Given the description of an element on the screen output the (x, y) to click on. 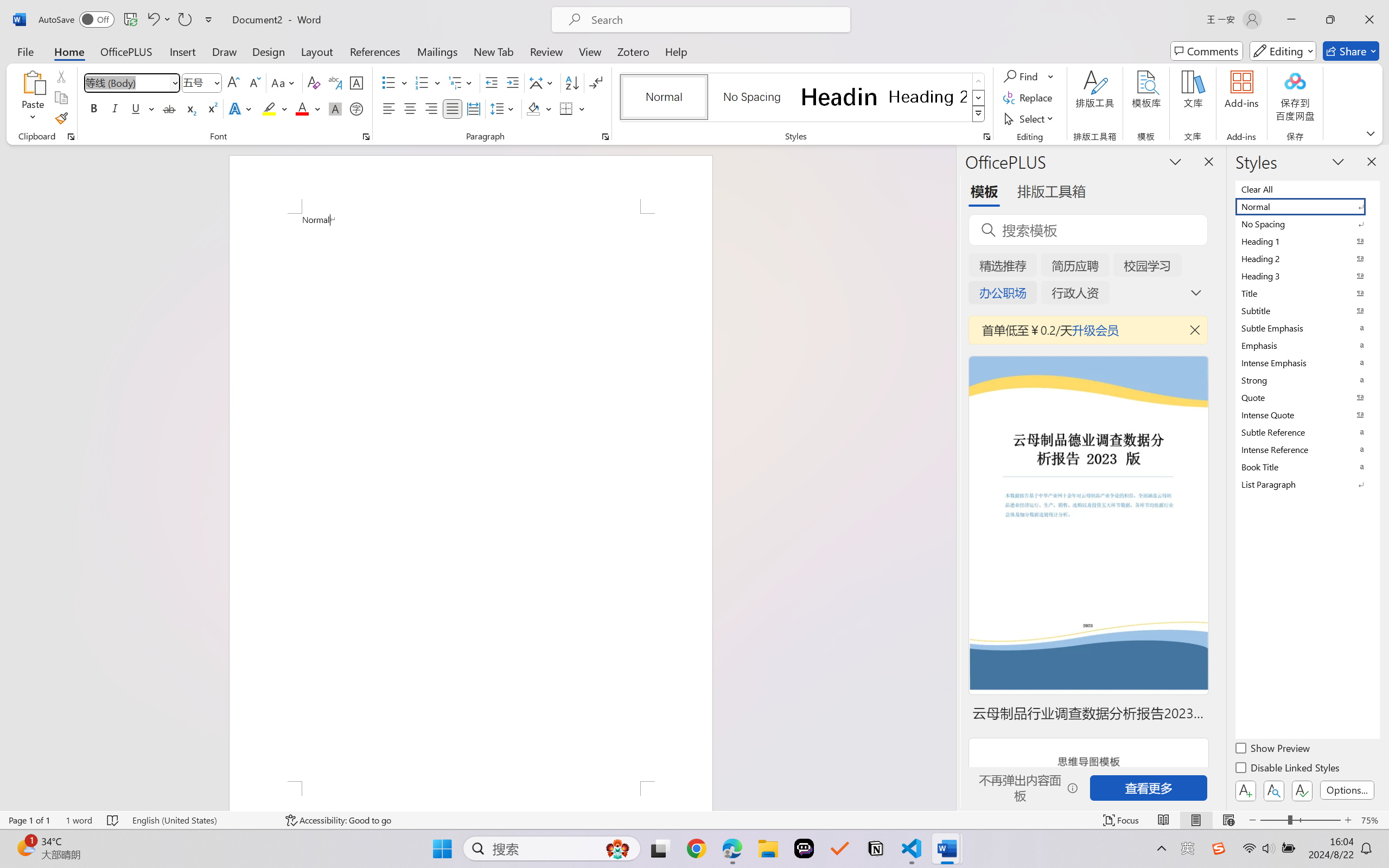
Quick Access Toolbar (127, 19)
Comments (1206, 50)
Distributed (473, 108)
Quote (1306, 397)
Styles (978, 113)
Focus  (1121, 819)
Show/Hide Editing Marks (595, 82)
Underline (142, 108)
Intense Reference (1306, 449)
Character Shading (334, 108)
